Given the description of an element on the screen output the (x, y) to click on. 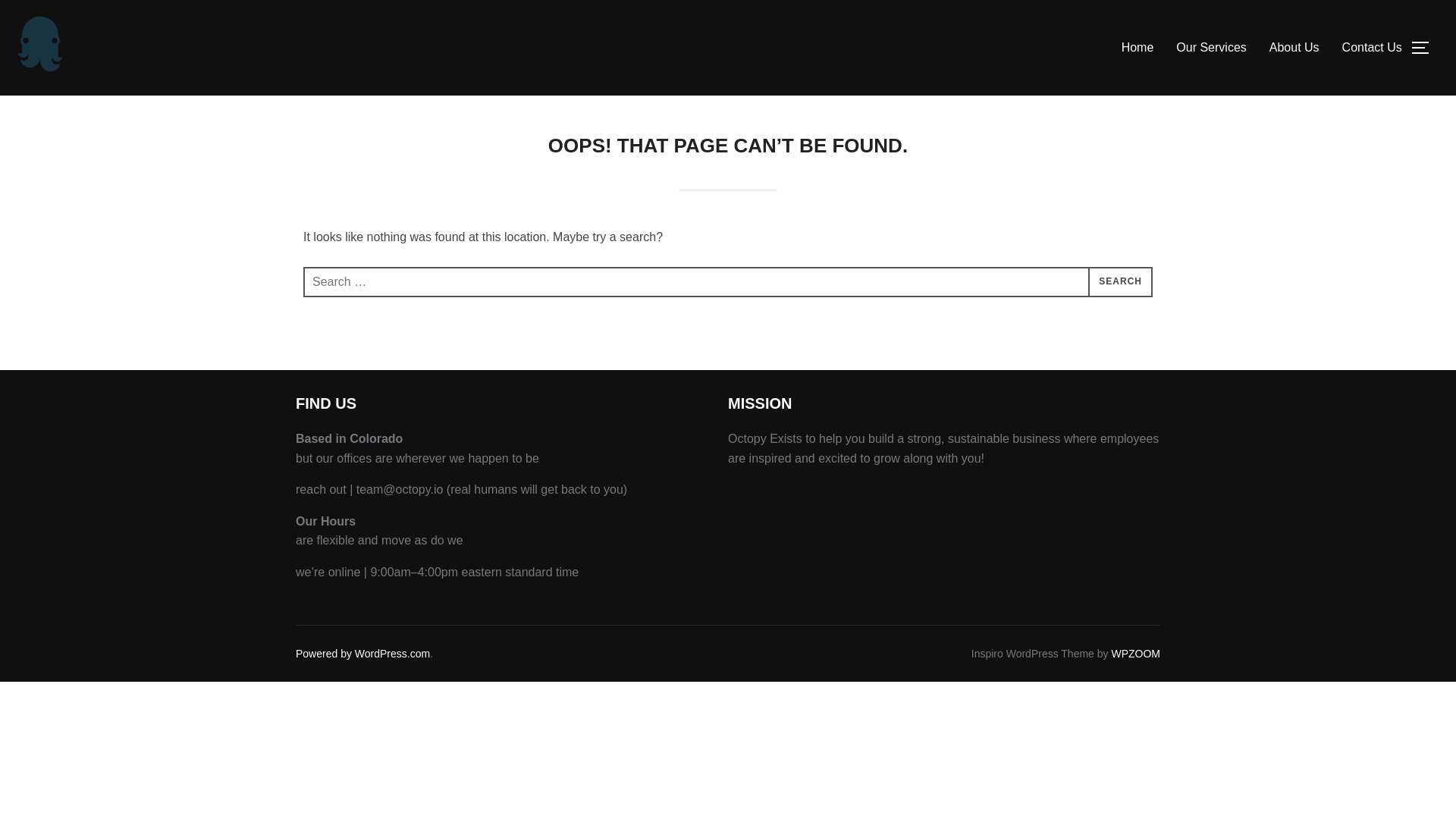
About Us (1294, 47)
WPZOOM (1135, 653)
SEARCH (1120, 281)
Home (1137, 47)
Powered by WordPress.com (362, 653)
Contact Us (1372, 47)
Our Services (1211, 47)
